Given the description of an element on the screen output the (x, y) to click on. 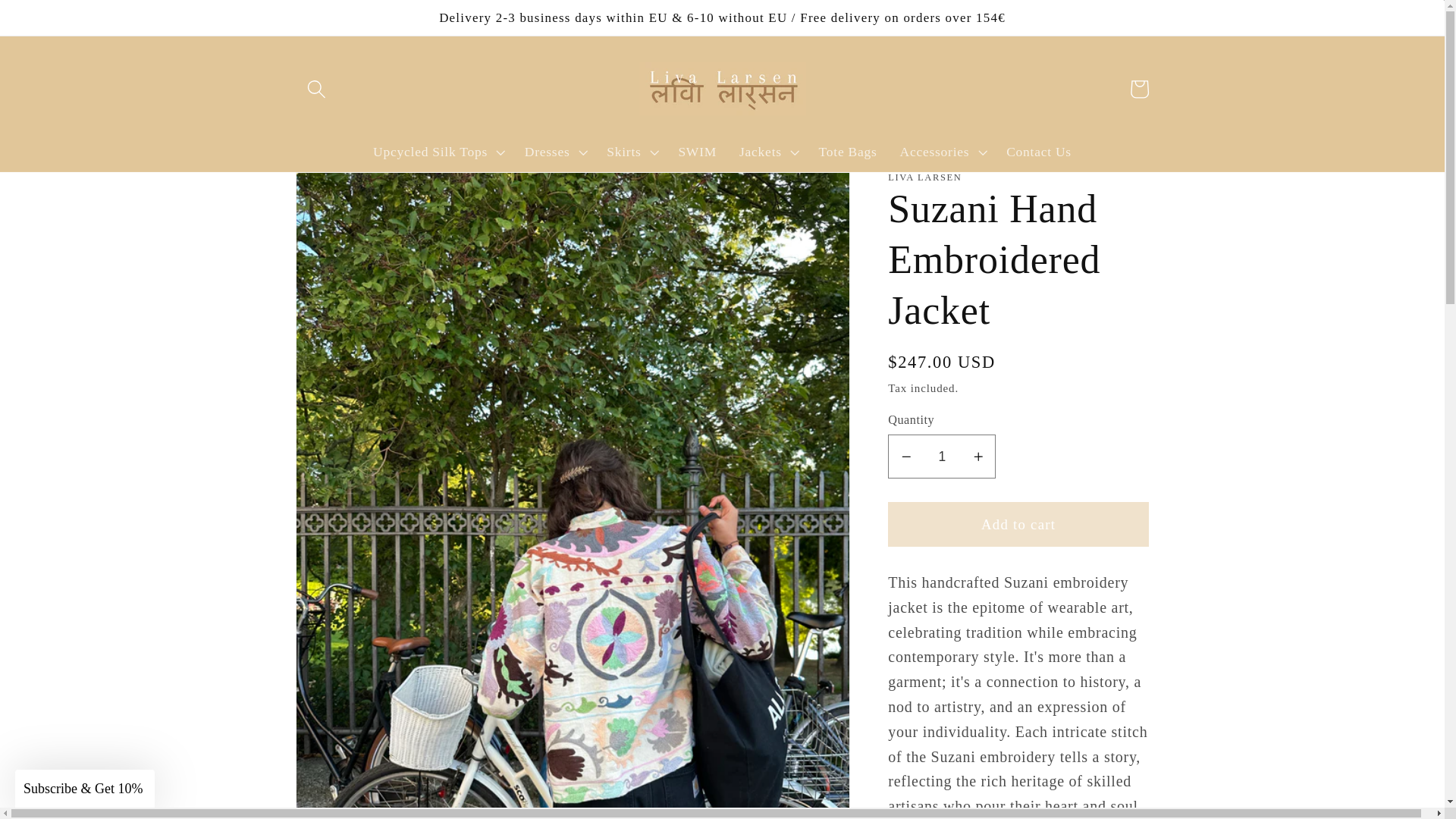
1 (941, 456)
Skip to content (57, 21)
